Given the description of an element on the screen output the (x, y) to click on. 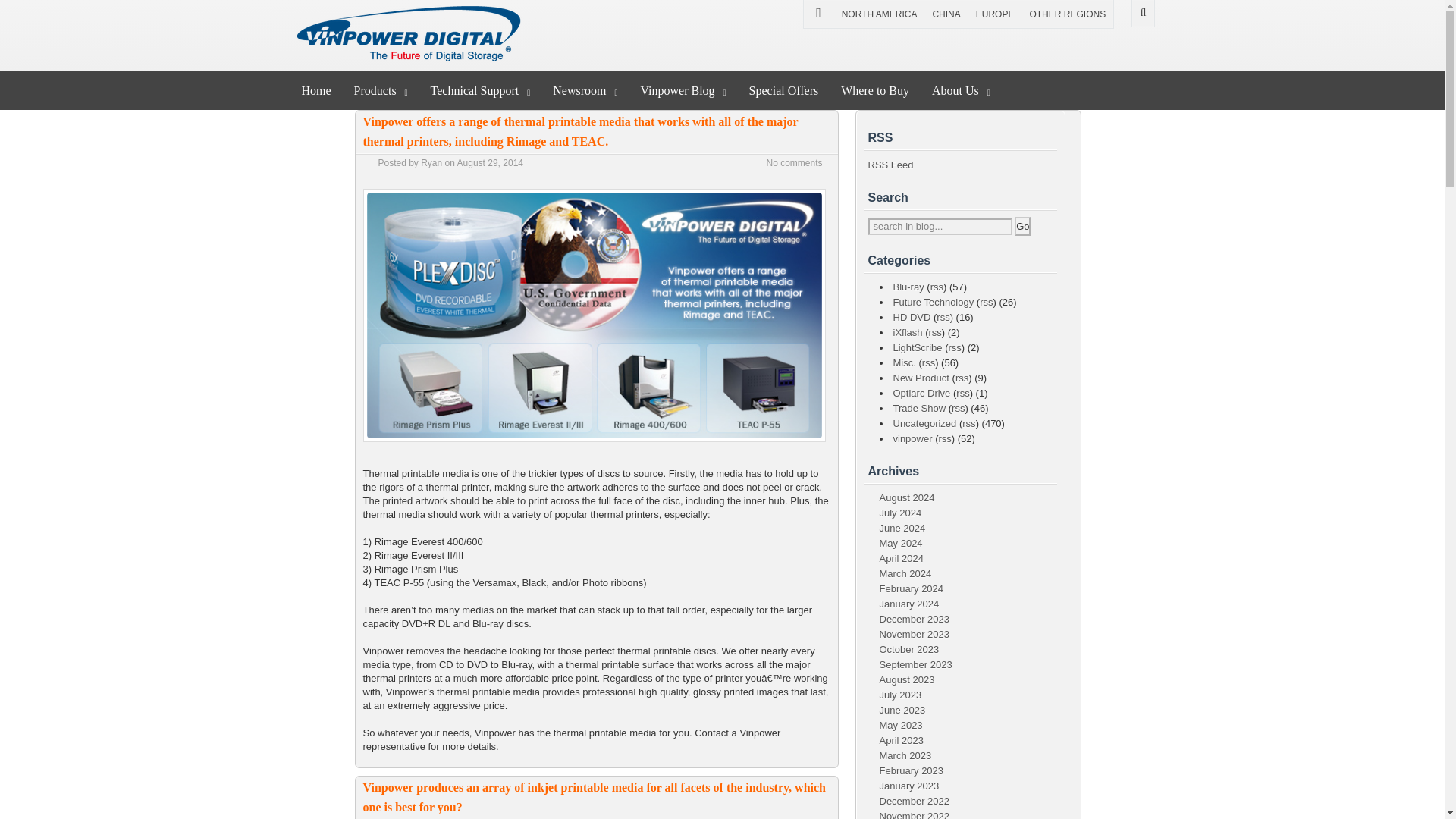
Home (315, 90)
search in blog... (939, 226)
thermal-media-options.jpg (593, 446)
Products (380, 90)
RSS Feed (889, 164)
